Given the description of an element on the screen output the (x, y) to click on. 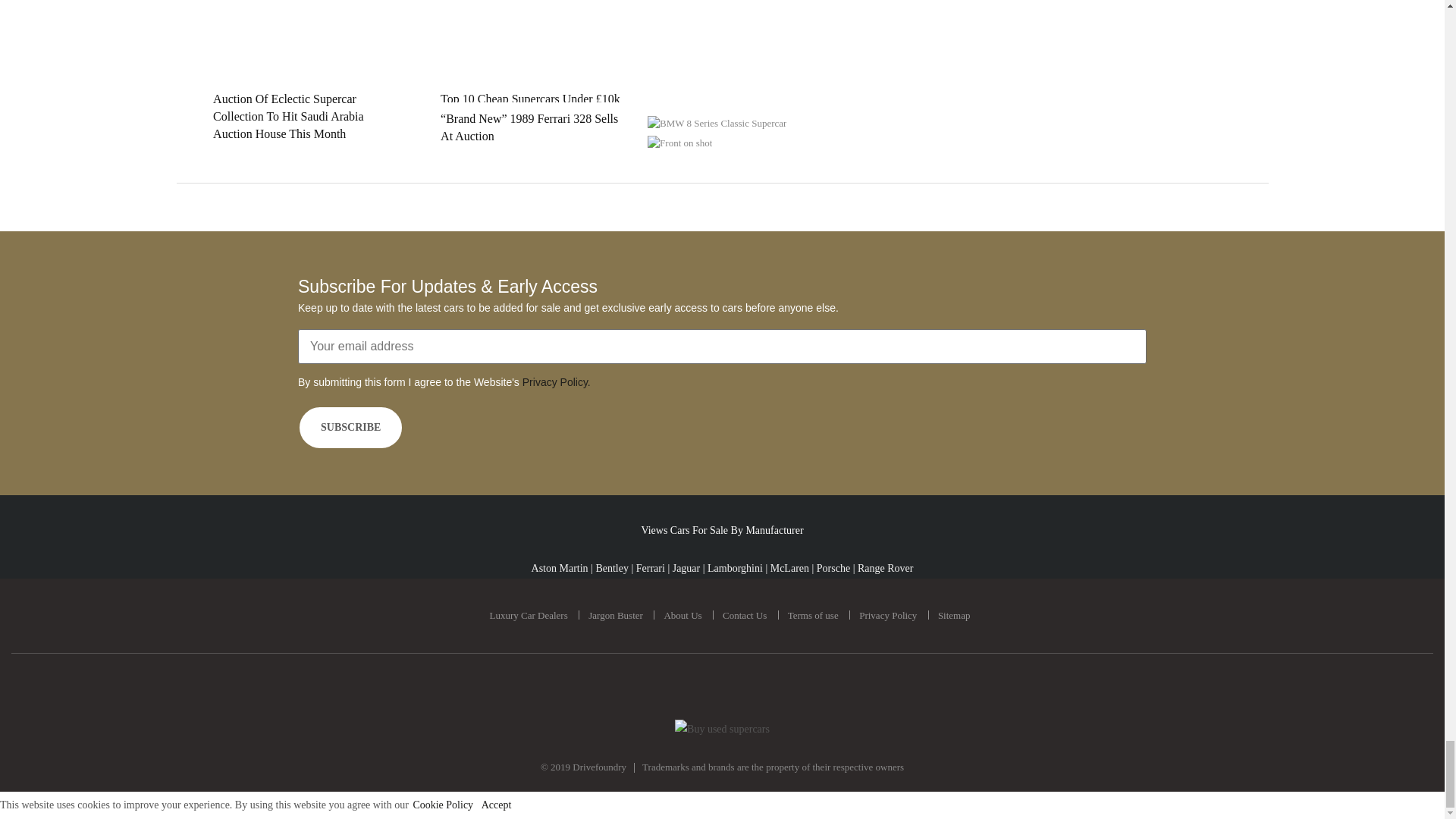
Subscribe (350, 427)
